Given the description of an element on the screen output the (x, y) to click on. 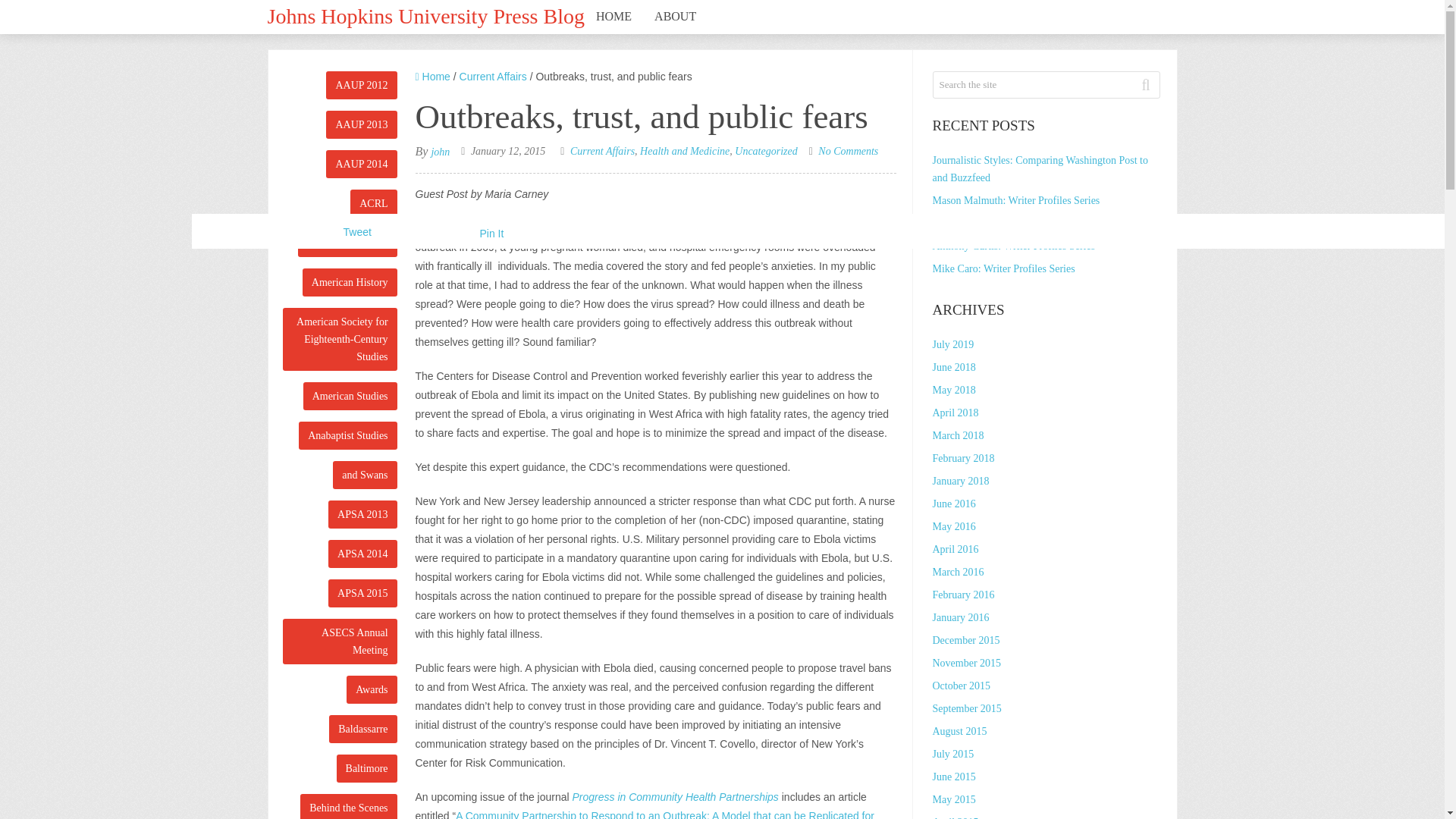
Awards (371, 689)
Behind the Scenes (347, 806)
Johns Hopkins University Press Blog (424, 14)
View all posts in Health and Medicine (684, 151)
AAUP 2012 (361, 85)
ABOUT (675, 17)
View all posts in Current Affairs (602, 151)
APSA 2013 (363, 514)
Baldassarre (362, 728)
and Swans (364, 474)
